Given the description of an element on the screen output the (x, y) to click on. 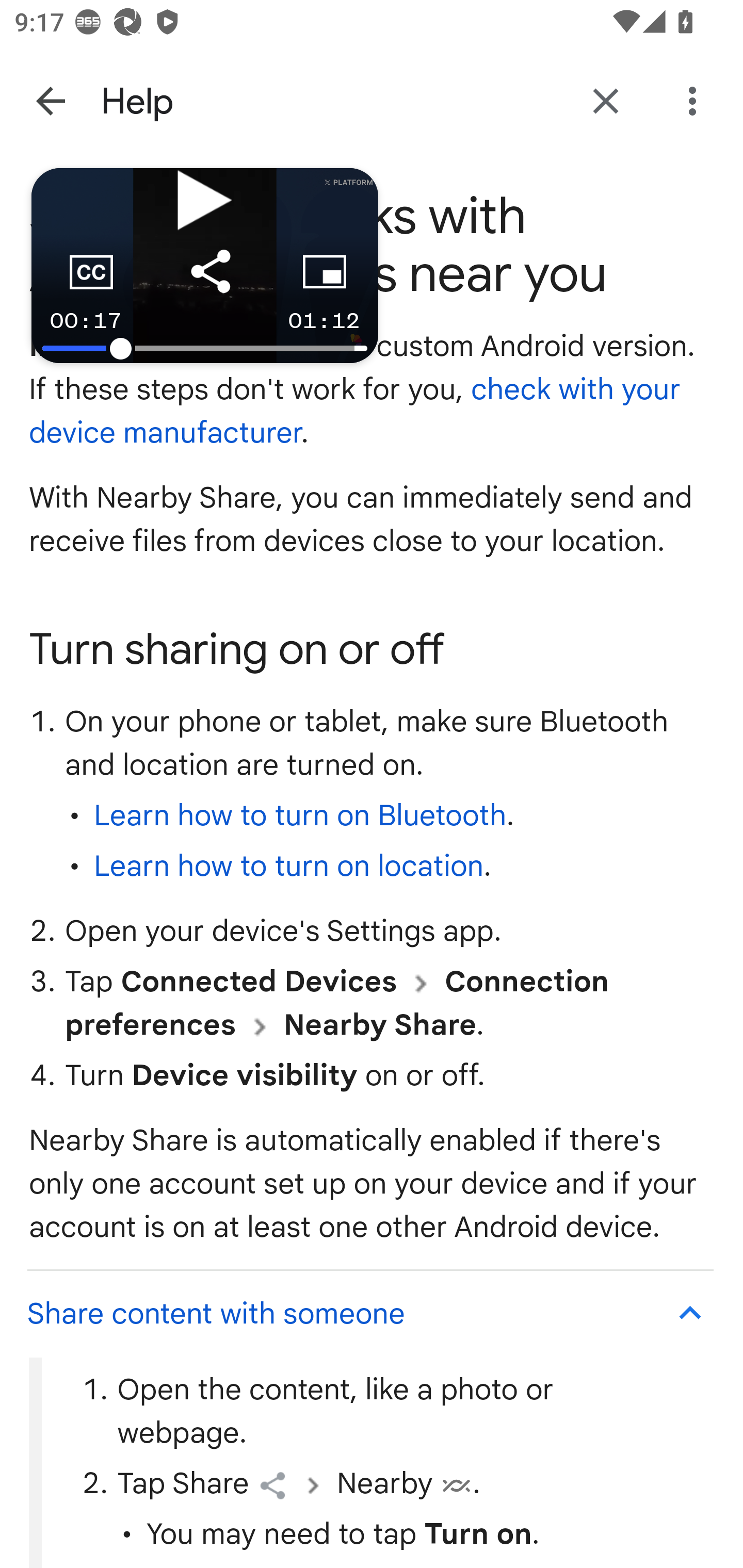
Navigate up (50, 101)
Return to Google Play services (605, 101)
More options (696, 101)
check with your device manufacturer (355, 411)
Learn how to turn on Bluetooth (300, 816)
Learn how to turn on location (288, 866)
Share content with someone (369, 1311)
